Given the description of an element on the screen output the (x, y) to click on. 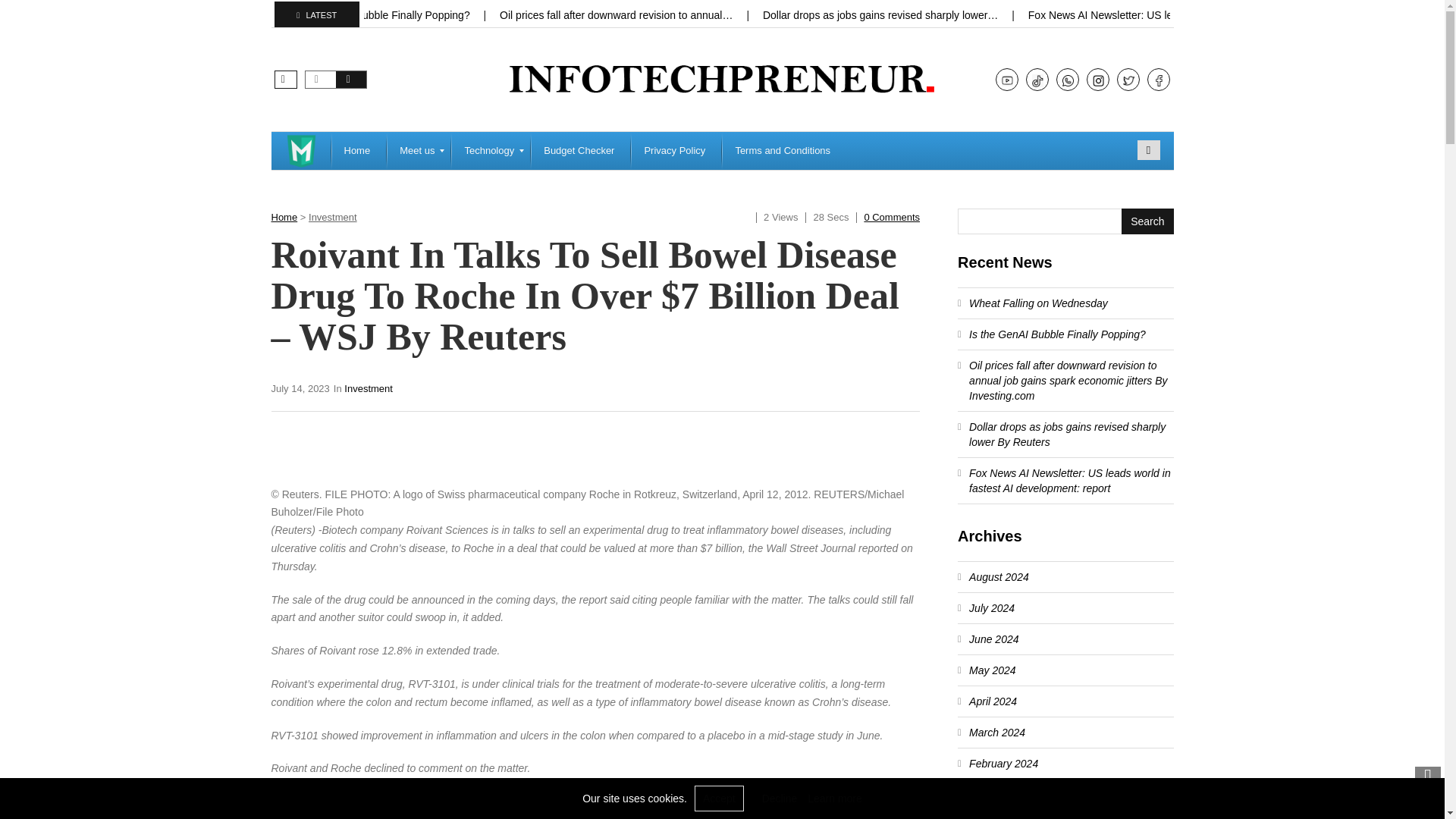
Privacy Policy (676, 150)
Accept (719, 798)
Is the GenAI Bubble Finally Popping? (383, 15)
Home (358, 150)
Search (1148, 149)
INSTAGRAM (1098, 80)
Budget Checker (580, 150)
Facebook (1158, 80)
INFOTECHPRENEUR (300, 150)
Technology (491, 150)
